Given the description of an element on the screen output the (x, y) to click on. 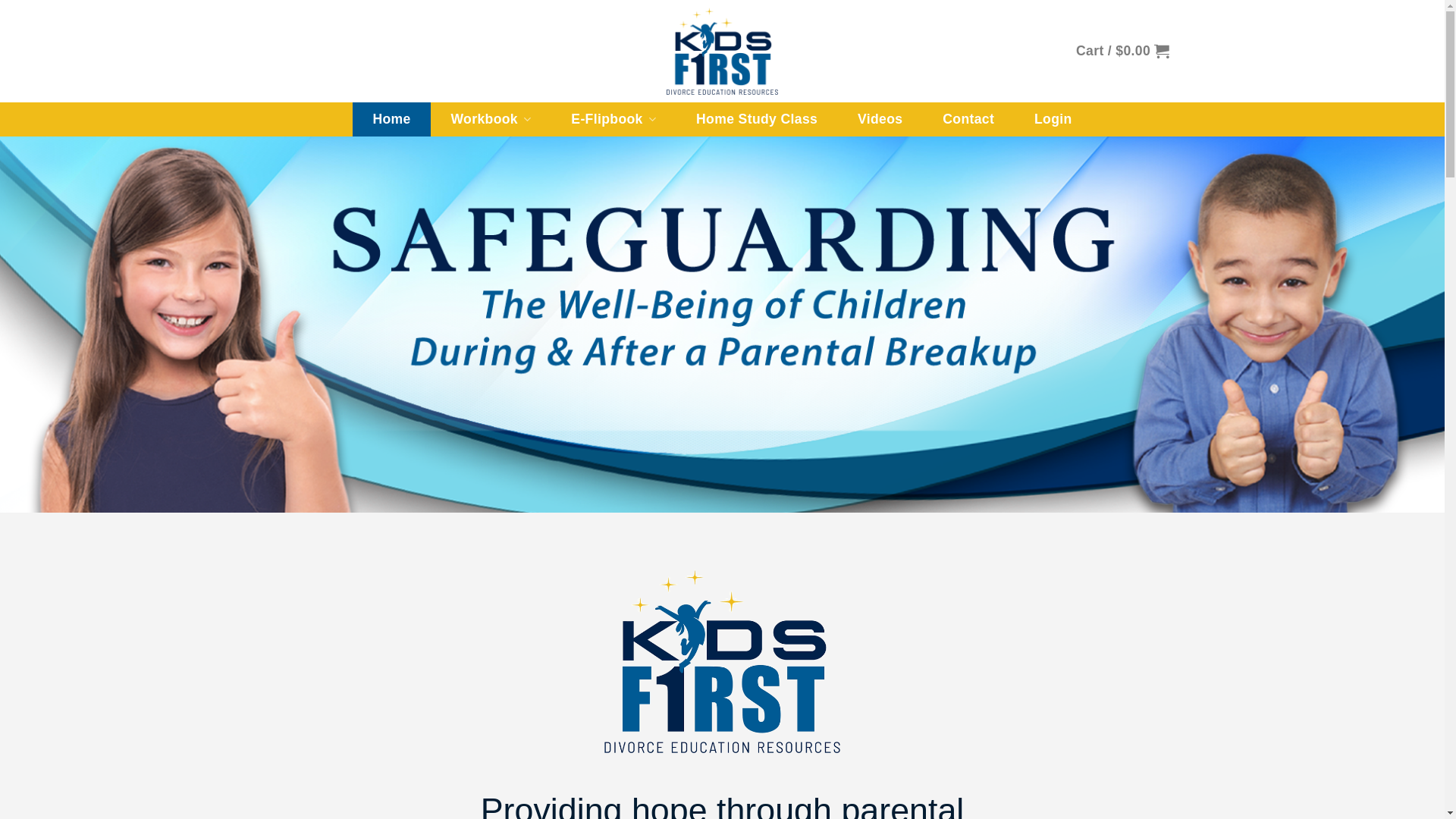
Workbook Element type: text (490, 119)
Skip to content Element type: text (0, 0)
Home Element type: text (391, 119)
Login Element type: text (1053, 119)
Kids First Divorce Education - Just another WordPress site Element type: hover (721, 51)
Contact Element type: text (968, 119)
E-Flipbook Element type: text (613, 119)
Cart / $0.00 Element type: text (1122, 50)
Home Study Class Element type: text (756, 119)
Videos Element type: text (879, 119)
